Given the description of an element on the screen output the (x, y) to click on. 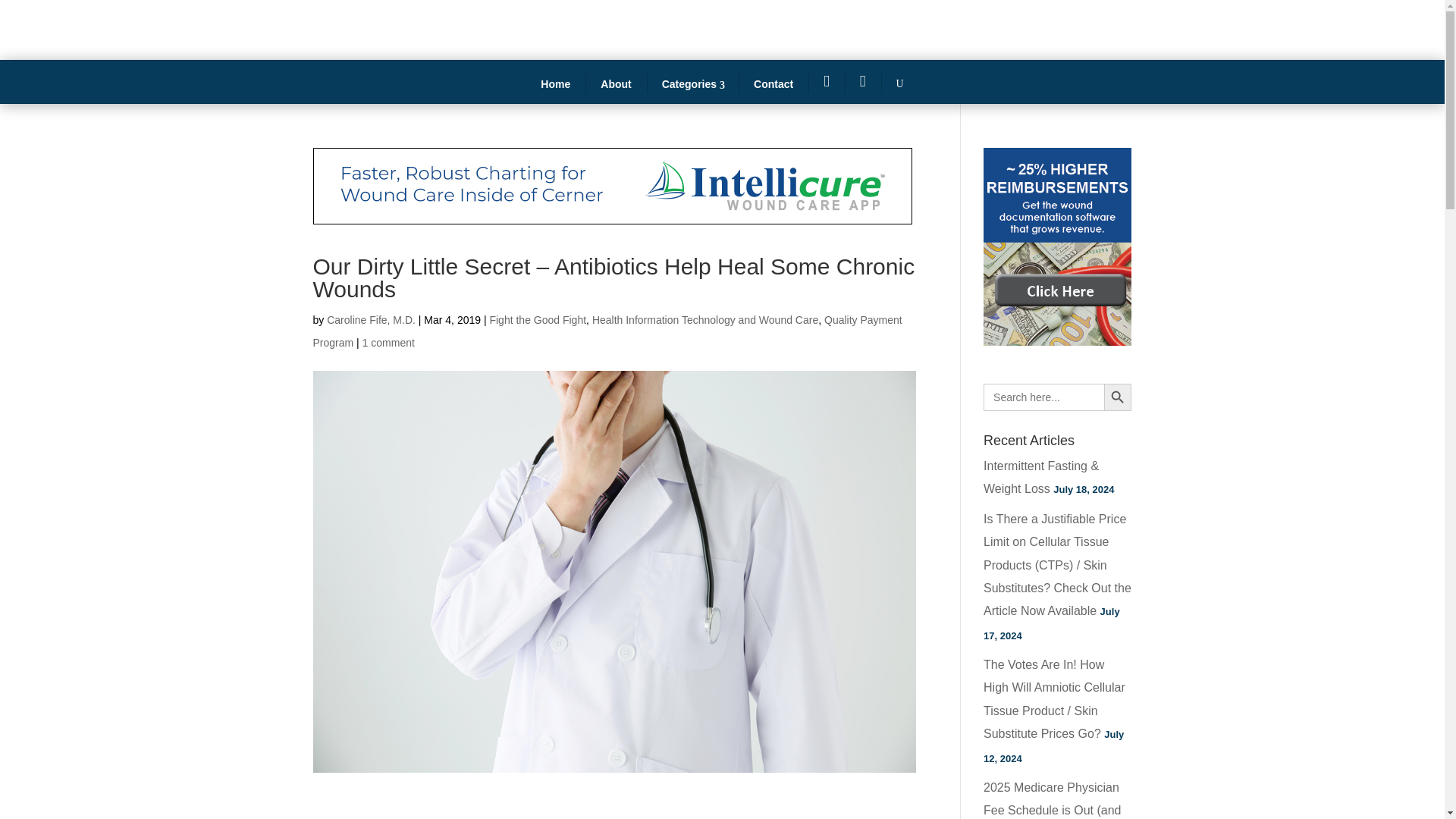
Posts by Caroline Fife, M.D. (370, 319)
